Given the description of an element on the screen output the (x, y) to click on. 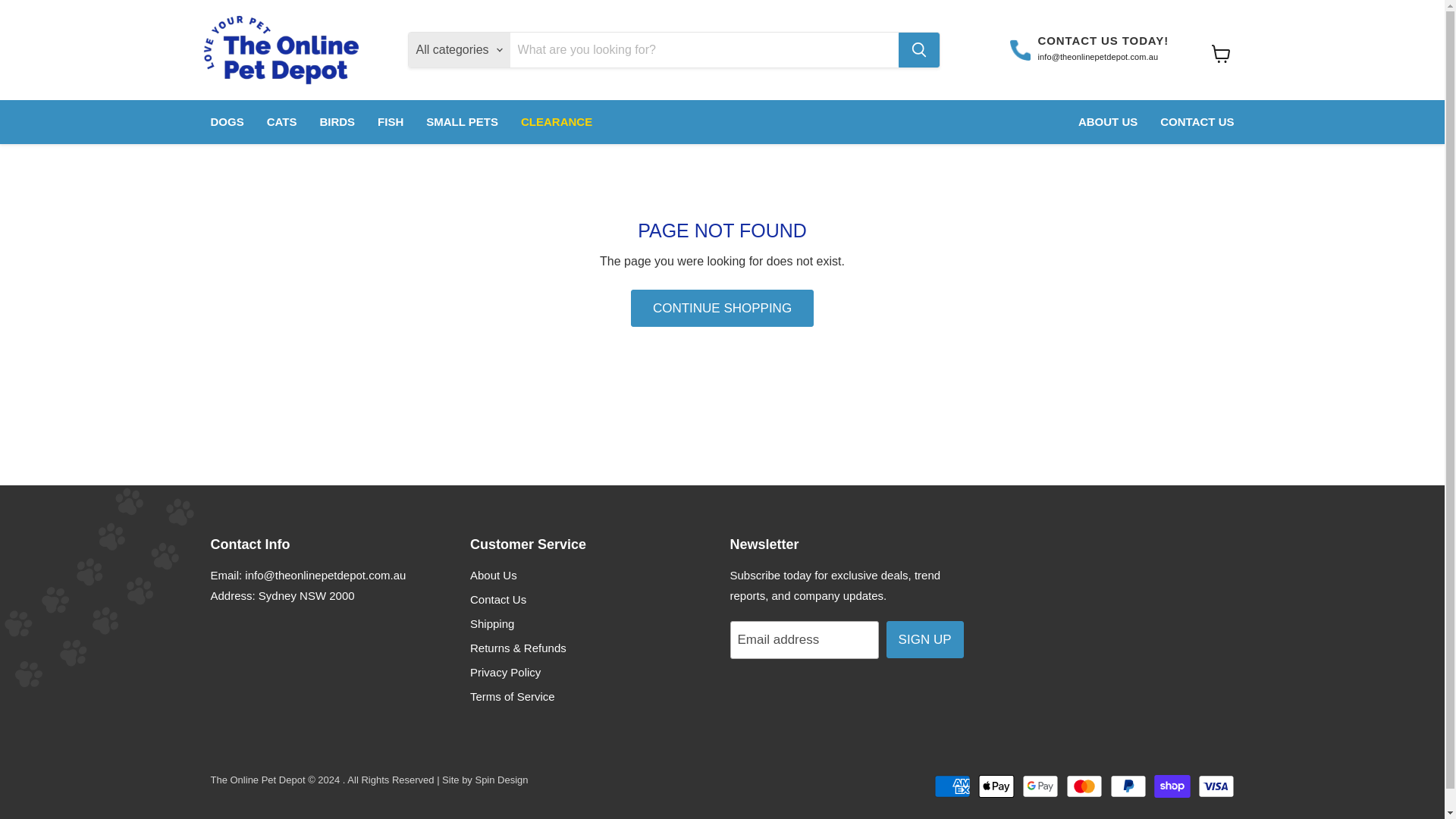
Spin Design (500, 779)
American Express (952, 785)
Google Pay (1040, 785)
BIRDS (336, 122)
Contact Us (497, 599)
View cart (1221, 53)
Mastercard (1083, 785)
SMALL PETS (461, 122)
CLEARANCE (556, 122)
Apple Pay (996, 785)
Visa (1216, 785)
About Us (493, 574)
Privacy Policy (505, 671)
FISH (390, 122)
Shipping (491, 623)
